Given the description of an element on the screen output the (x, y) to click on. 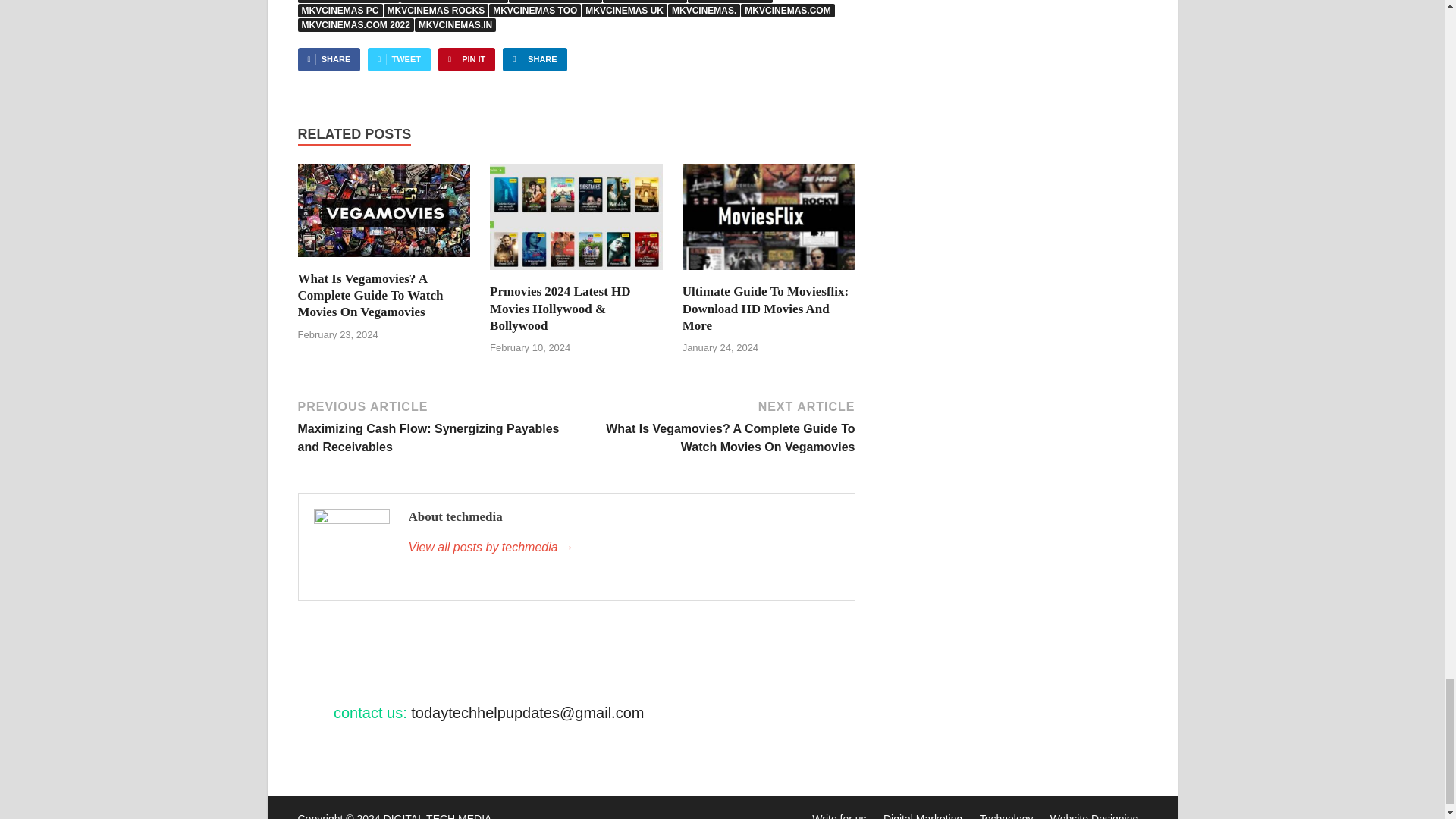
Ultimate Guide To Moviesflix: Download HD Movies And More (769, 273)
Ultimate Guide To Moviesflix: Download HD Movies And More (765, 308)
techmedia (622, 547)
